Given the description of an element on the screen output the (x, y) to click on. 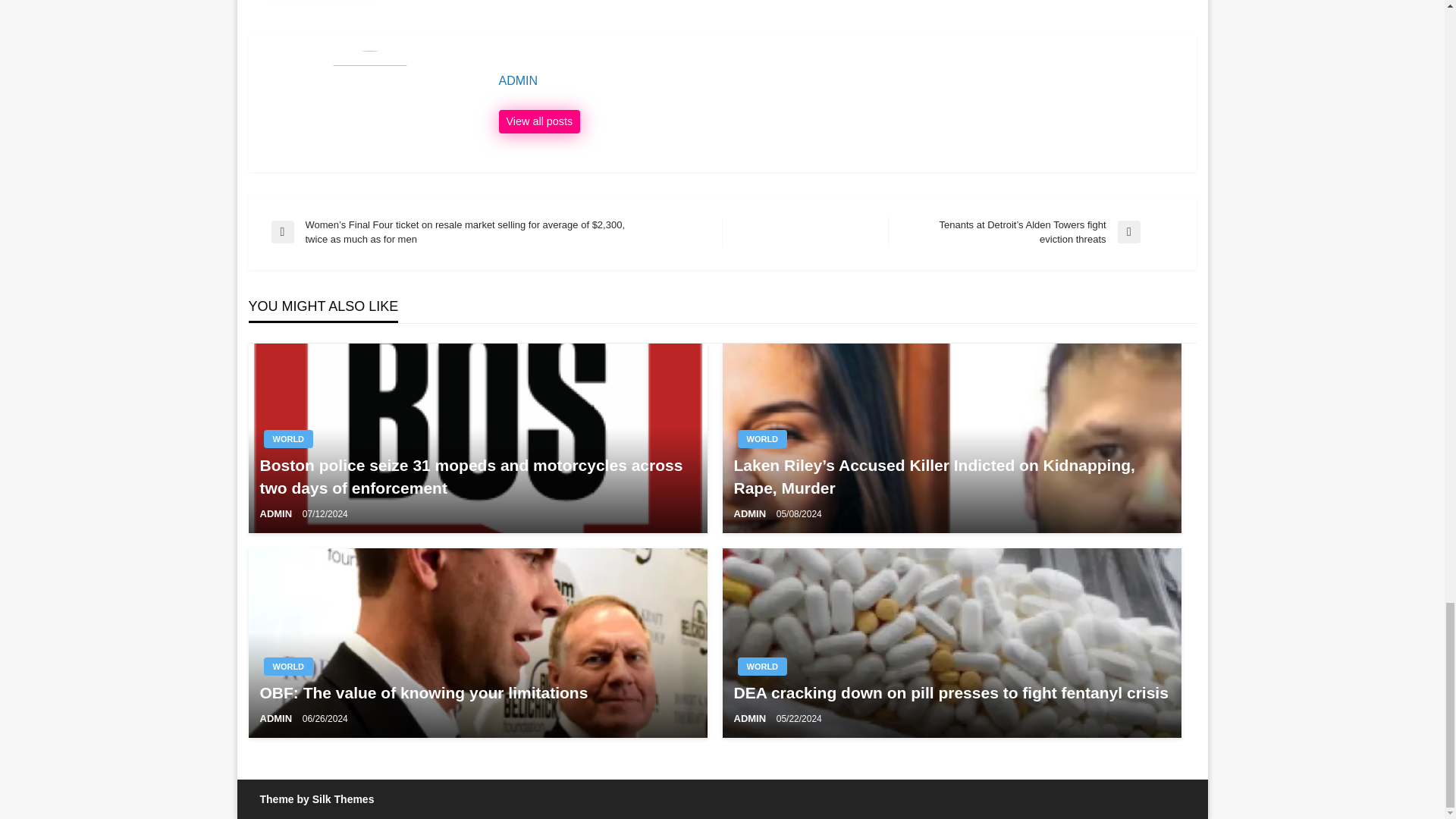
ADMIN (839, 80)
ADMIN (539, 121)
WORLD (288, 438)
ADMIN (750, 513)
WORLD (761, 438)
WORLD (288, 666)
View all posts (539, 121)
ADMIN (276, 513)
OBF: The value of knowing your limitations (477, 692)
ADMIN (839, 80)
